Given the description of an element on the screen output the (x, y) to click on. 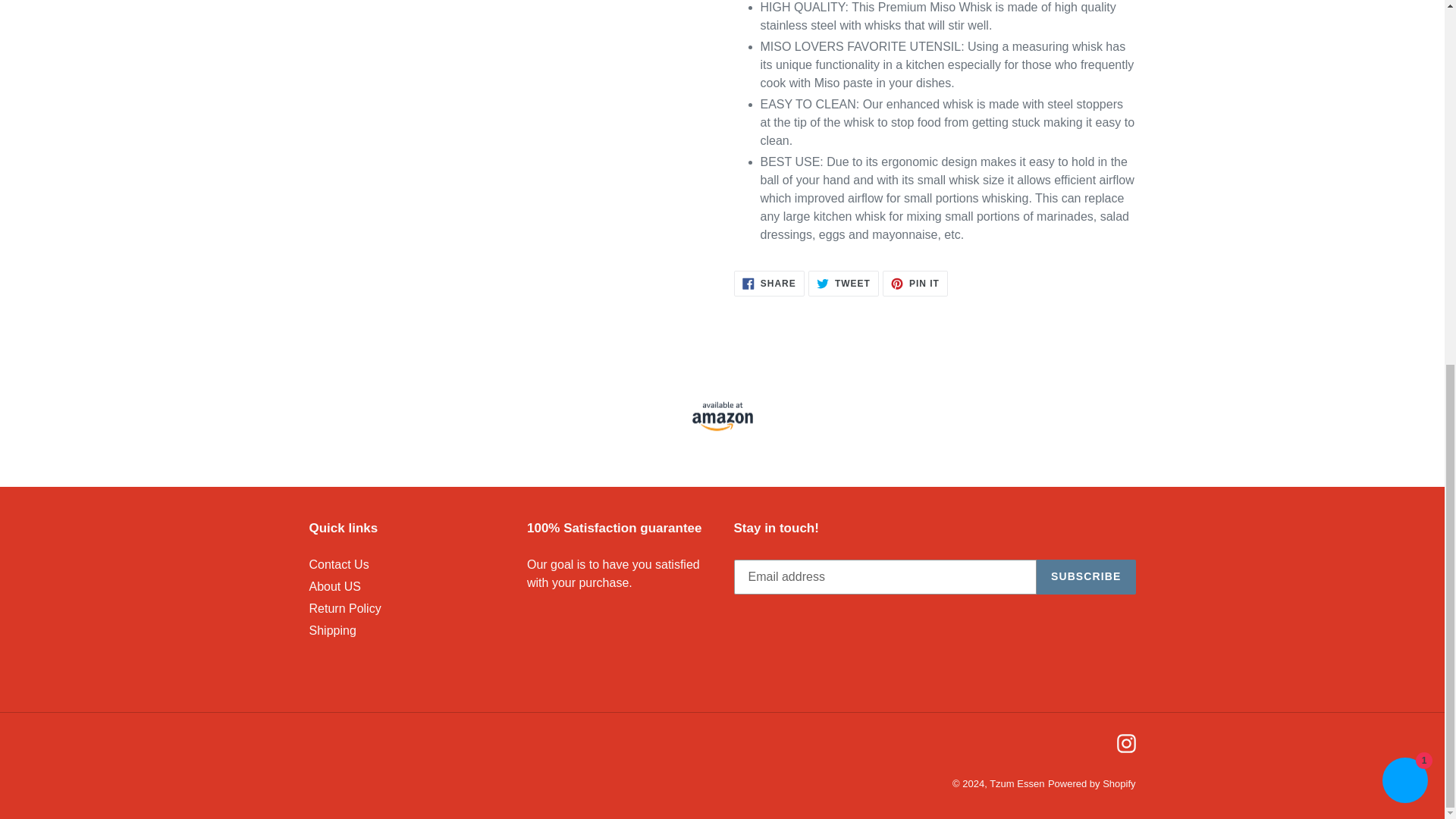
Tzum Essen (1016, 783)
About US (334, 585)
Instagram (1125, 742)
SUBSCRIBE (843, 283)
Powered by Shopify (1085, 576)
Return Policy (1091, 783)
Shopify online store chat (344, 608)
Shipping (1404, 128)
Contact Us (332, 630)
